Given the description of an element on the screen output the (x, y) to click on. 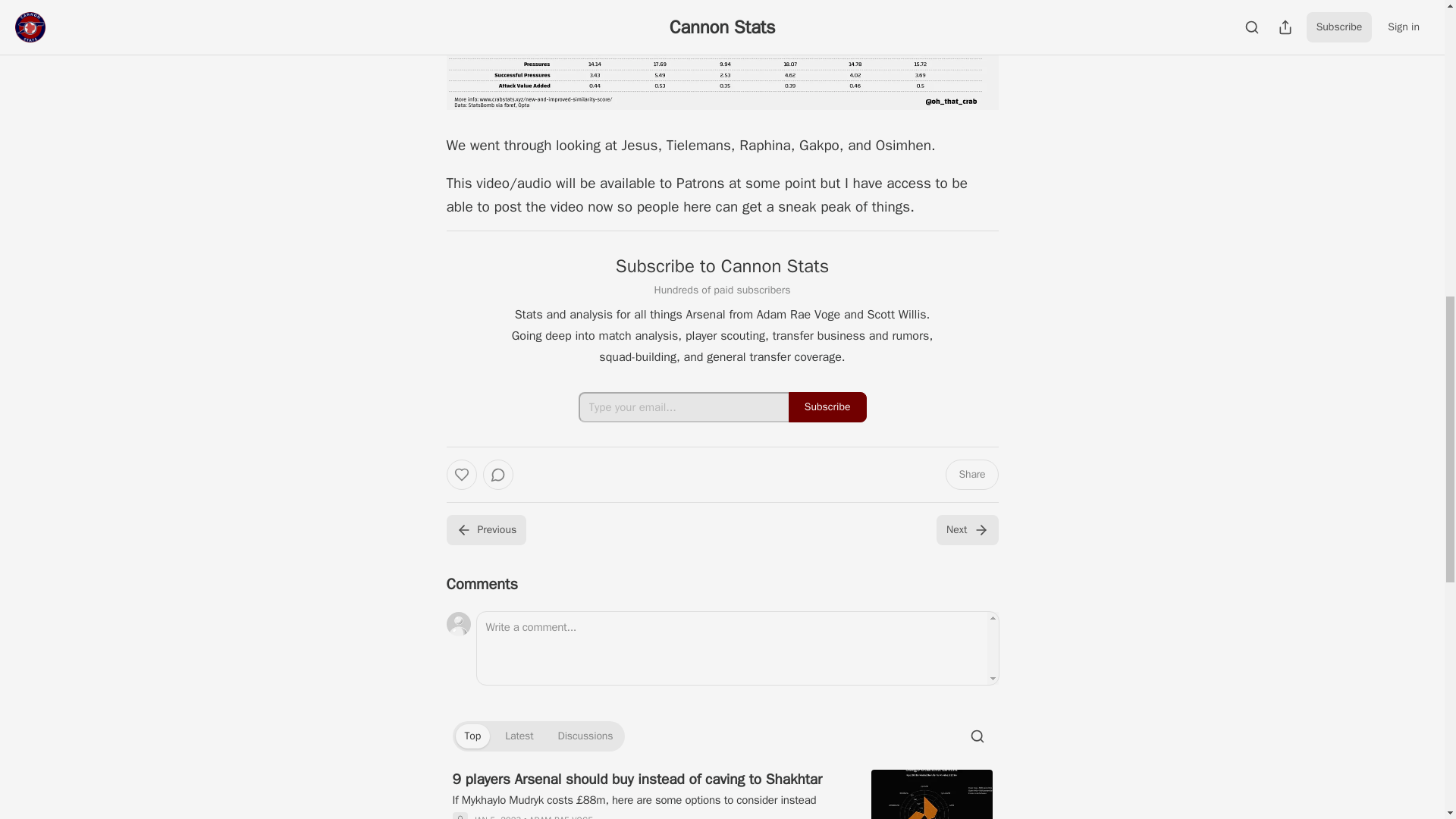
Top (471, 735)
Share (970, 474)
Latest (518, 735)
Subscribe (827, 407)
Previous (485, 530)
Next (966, 530)
